Given the description of an element on the screen output the (x, y) to click on. 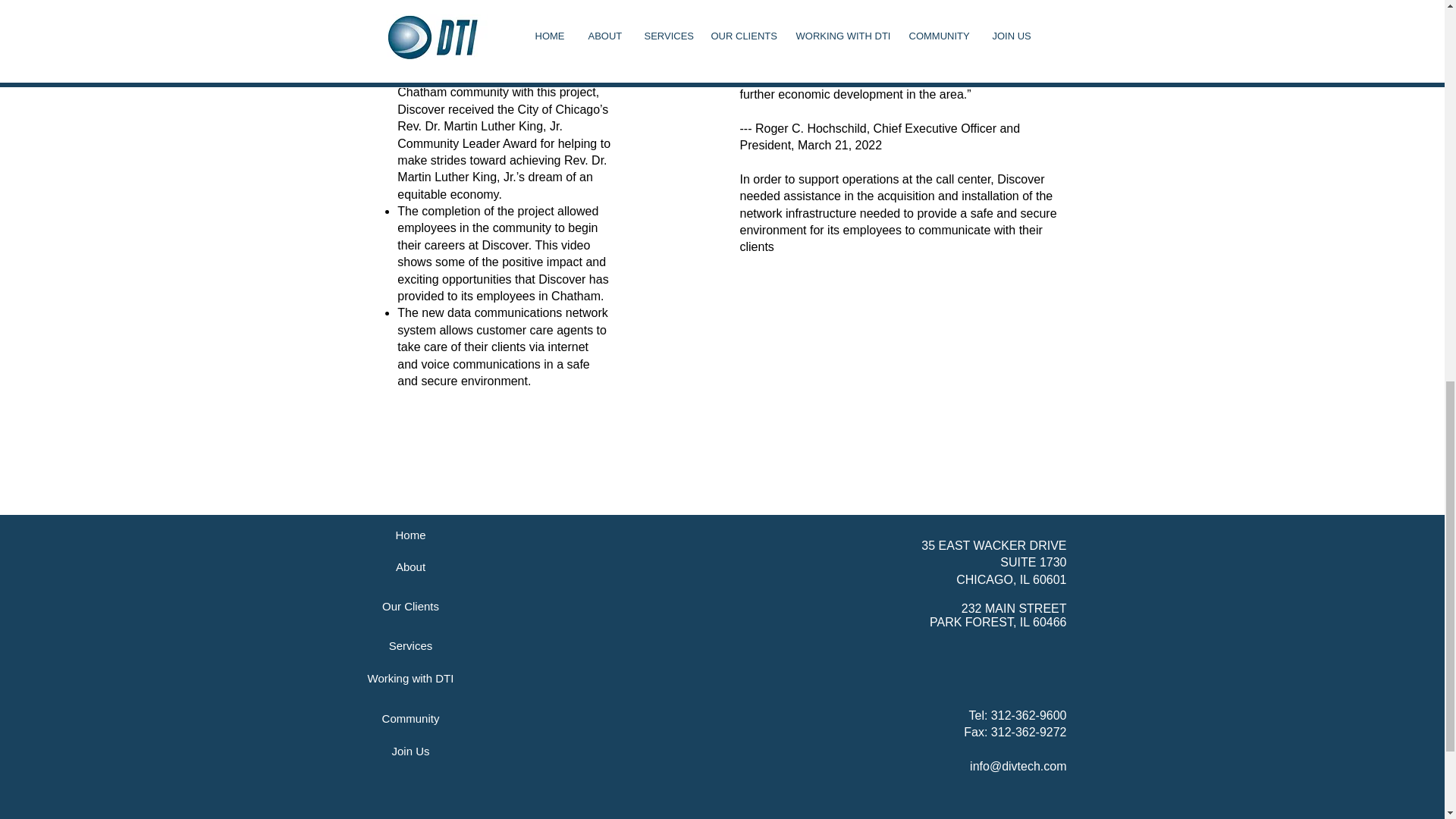
Working with DTI (410, 677)
Community (410, 717)
Services (410, 644)
Home (410, 534)
About (410, 566)
Our Clients (410, 605)
Join Us (410, 750)
